Given the description of an element on the screen output the (x, y) to click on. 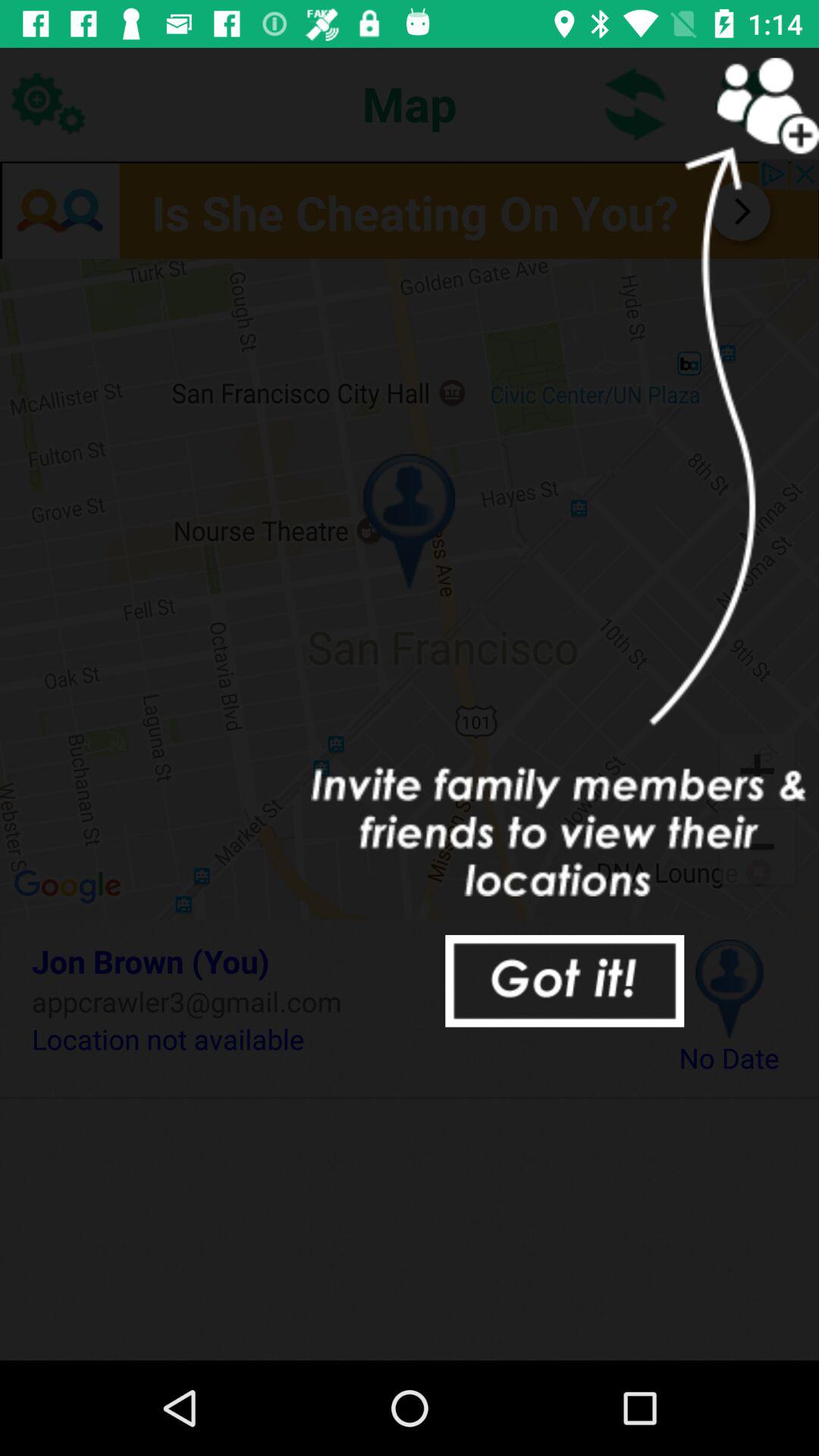
tap the icon above the jon brown (you) item (409, 588)
